Given the description of an element on the screen output the (x, y) to click on. 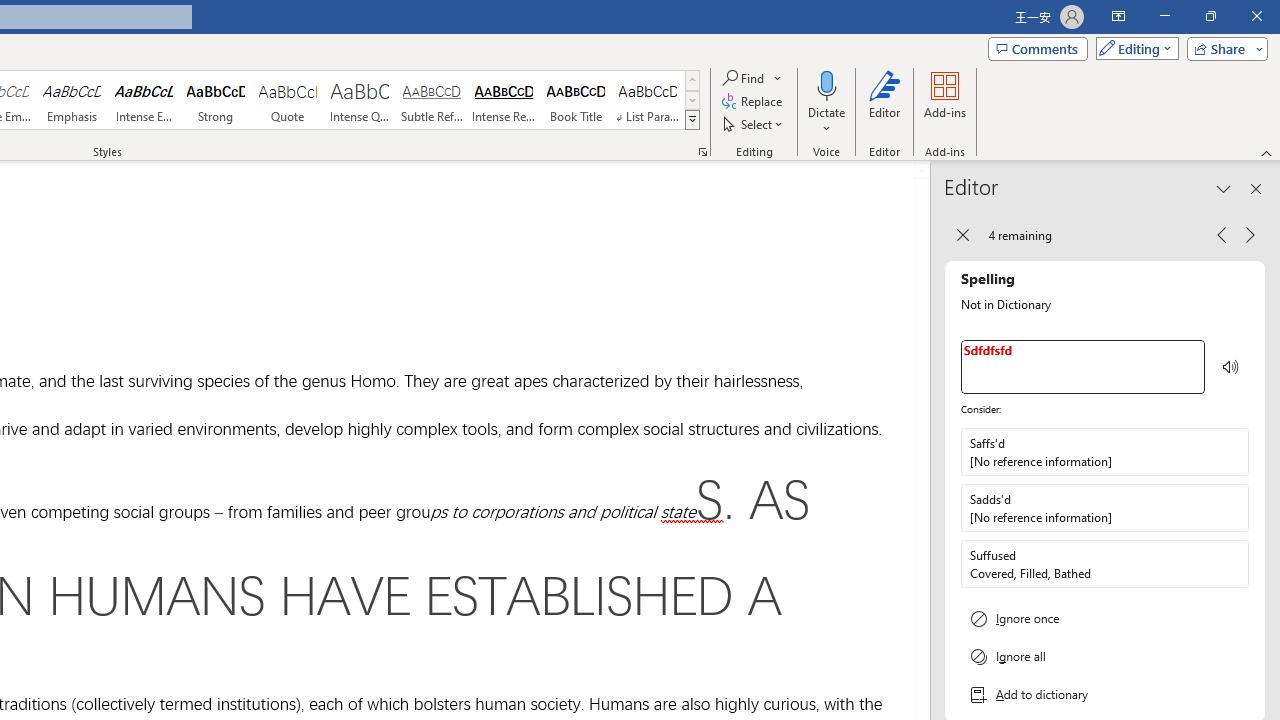
Minimize (1164, 16)
More options for Sadds'd (1232, 508)
Row Down (692, 100)
AutomationID: DrillInPane_ReadContext (1231, 367)
